Given the description of an element on the screen output the (x, y) to click on. 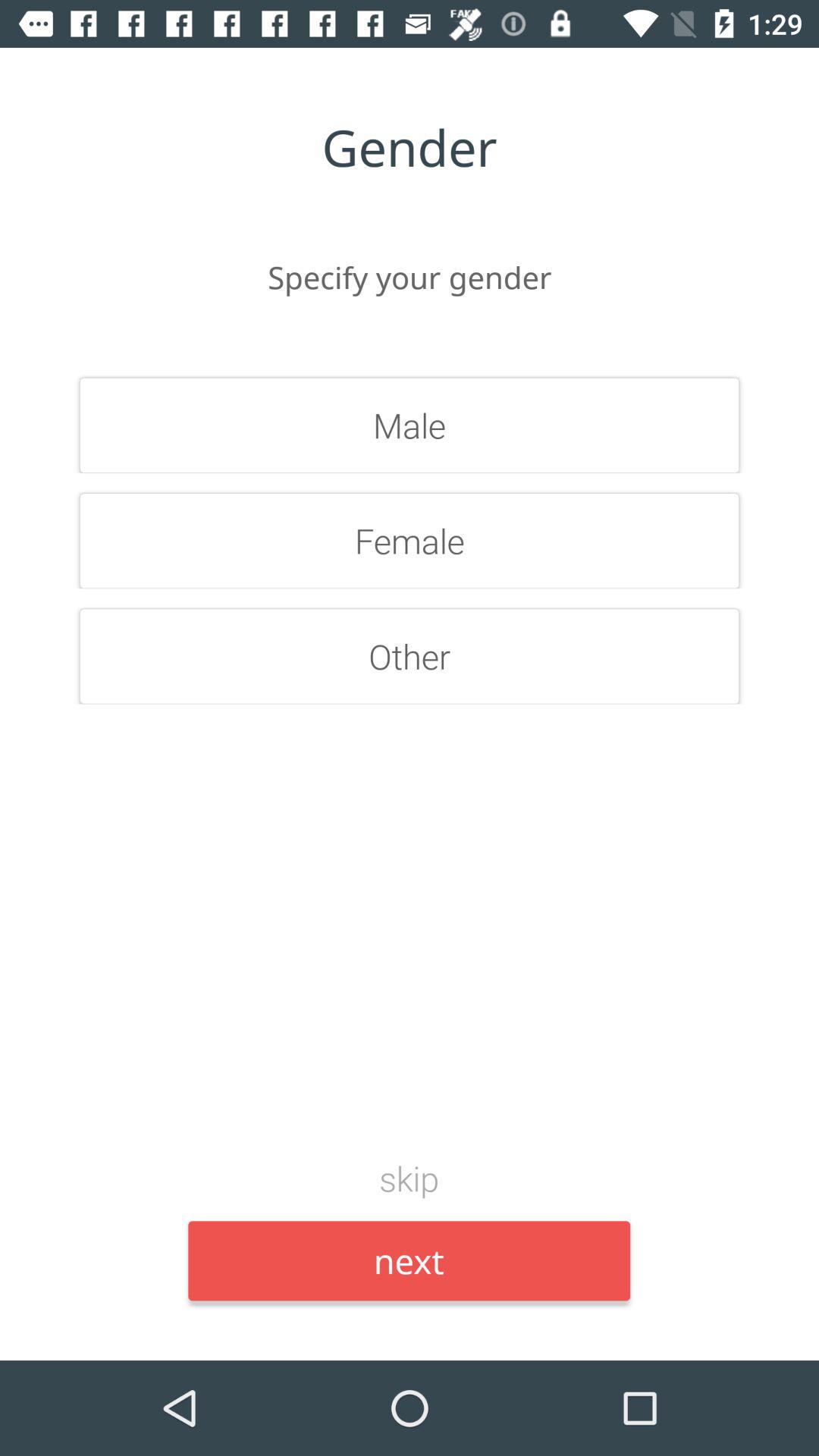
flip to the other item (409, 656)
